Given the description of an element on the screen output the (x, y) to click on. 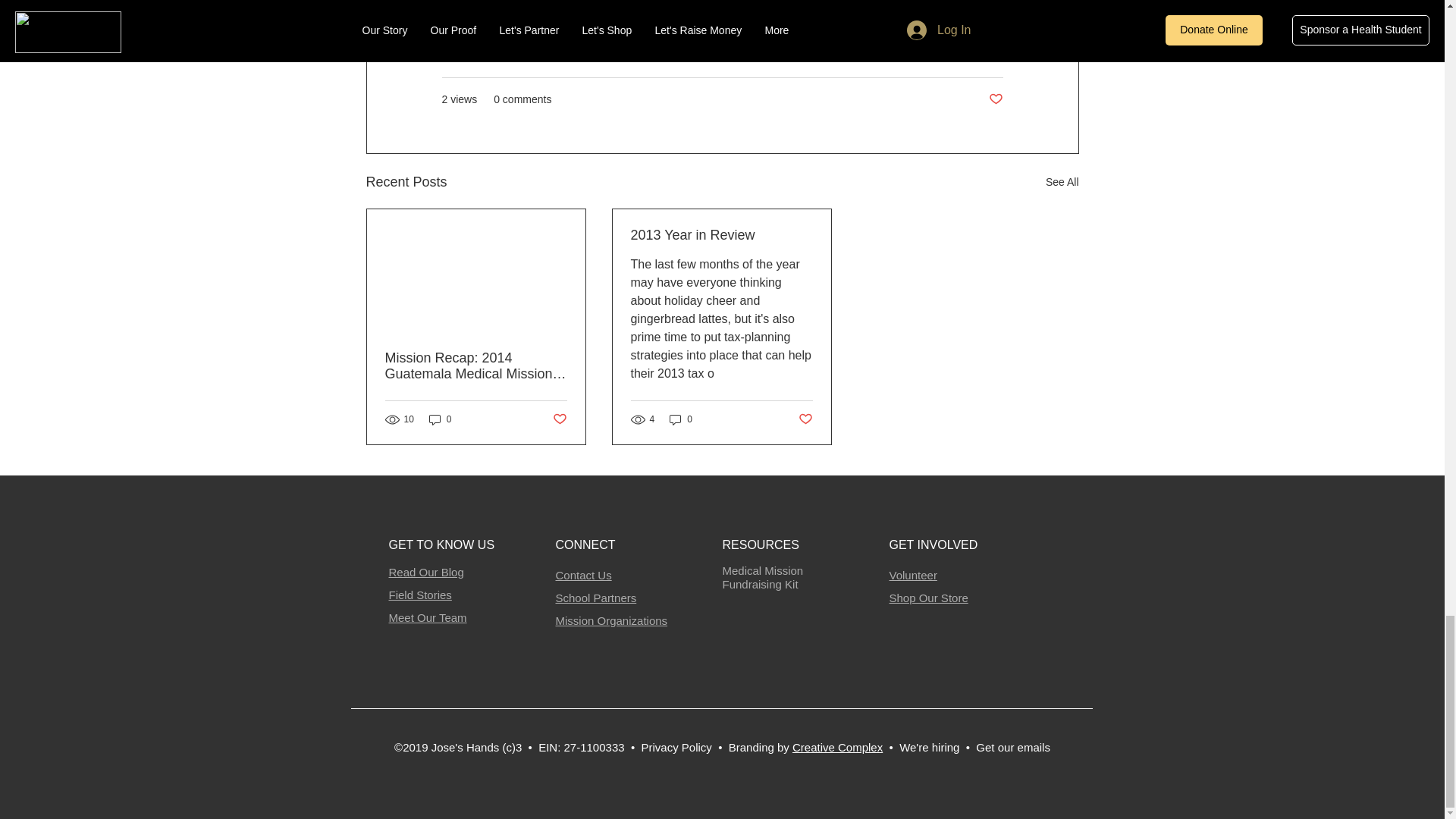
See All (1061, 182)
Post not marked as liked (995, 99)
Mission Recaps (965, 54)
Mission Recap: 2014 Guatemala Medical Mission June 25-29 (476, 366)
